Given the description of an element on the screen output the (x, y) to click on. 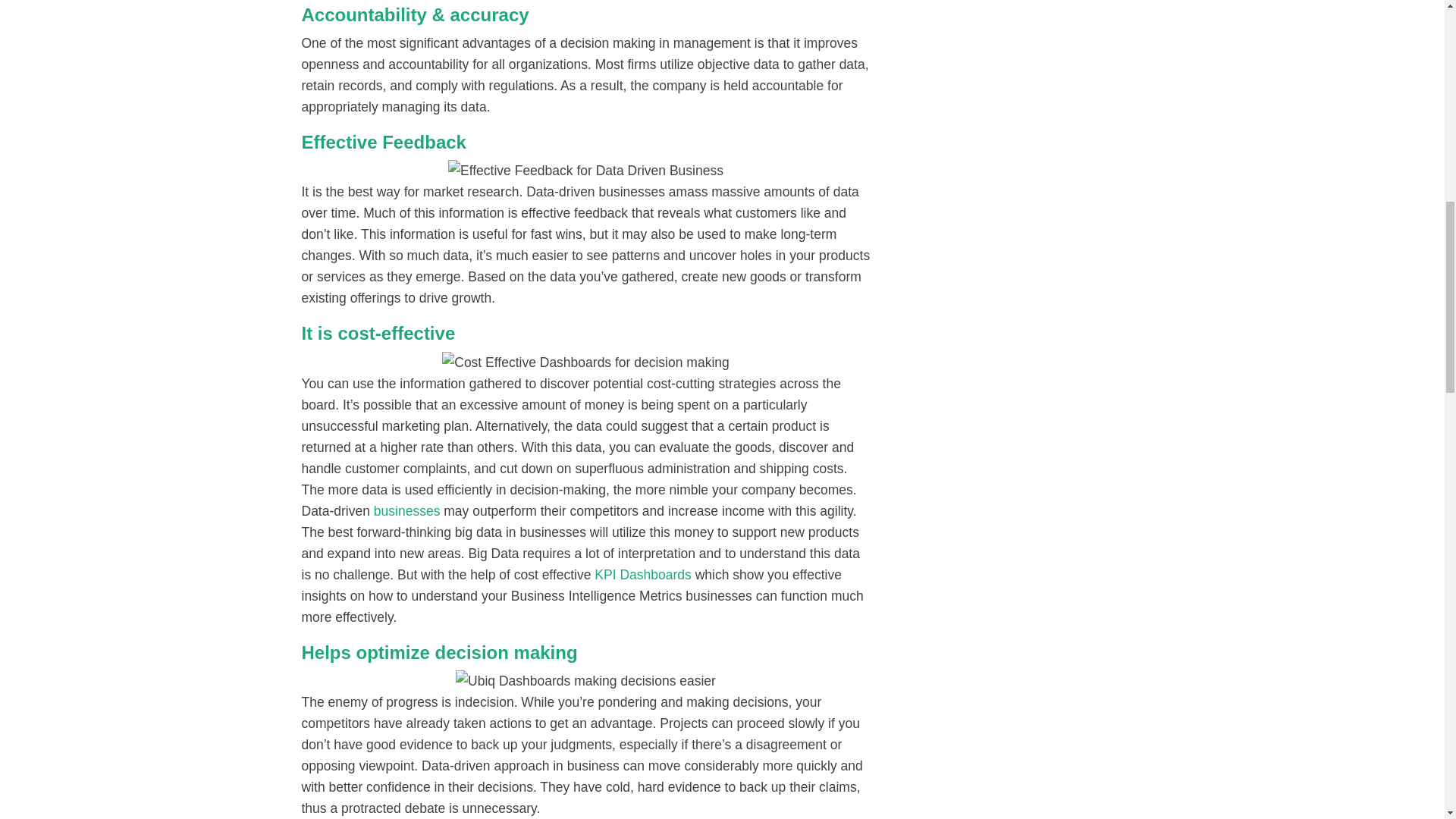
KPI Dashboards (642, 574)
Advertisement (1029, 81)
businesses (407, 510)
